Given the description of an element on the screen output the (x, y) to click on. 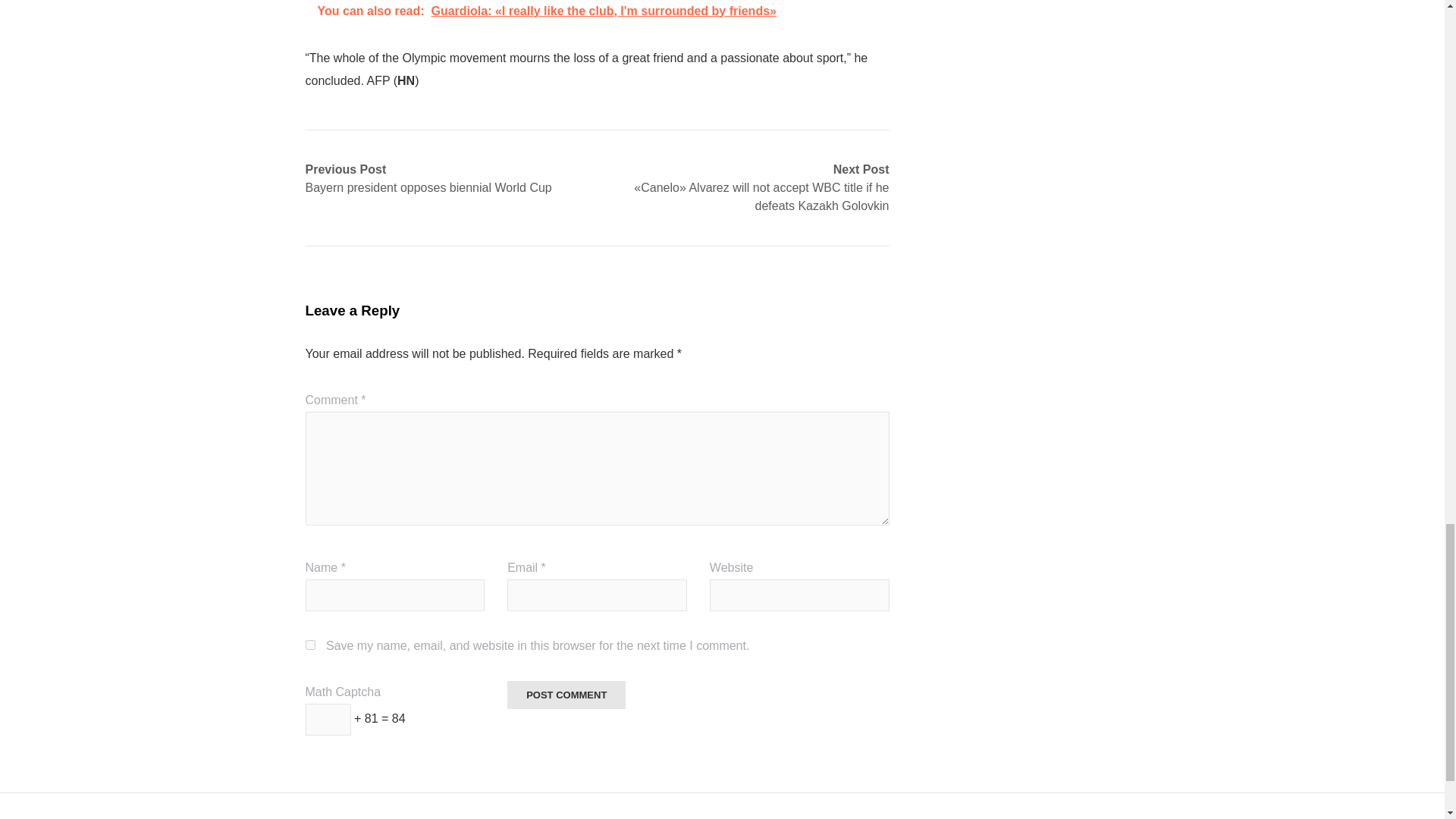
Post Comment (566, 694)
yes (309, 644)
Post Comment (566, 694)
